Given the description of an element on the screen output the (x, y) to click on. 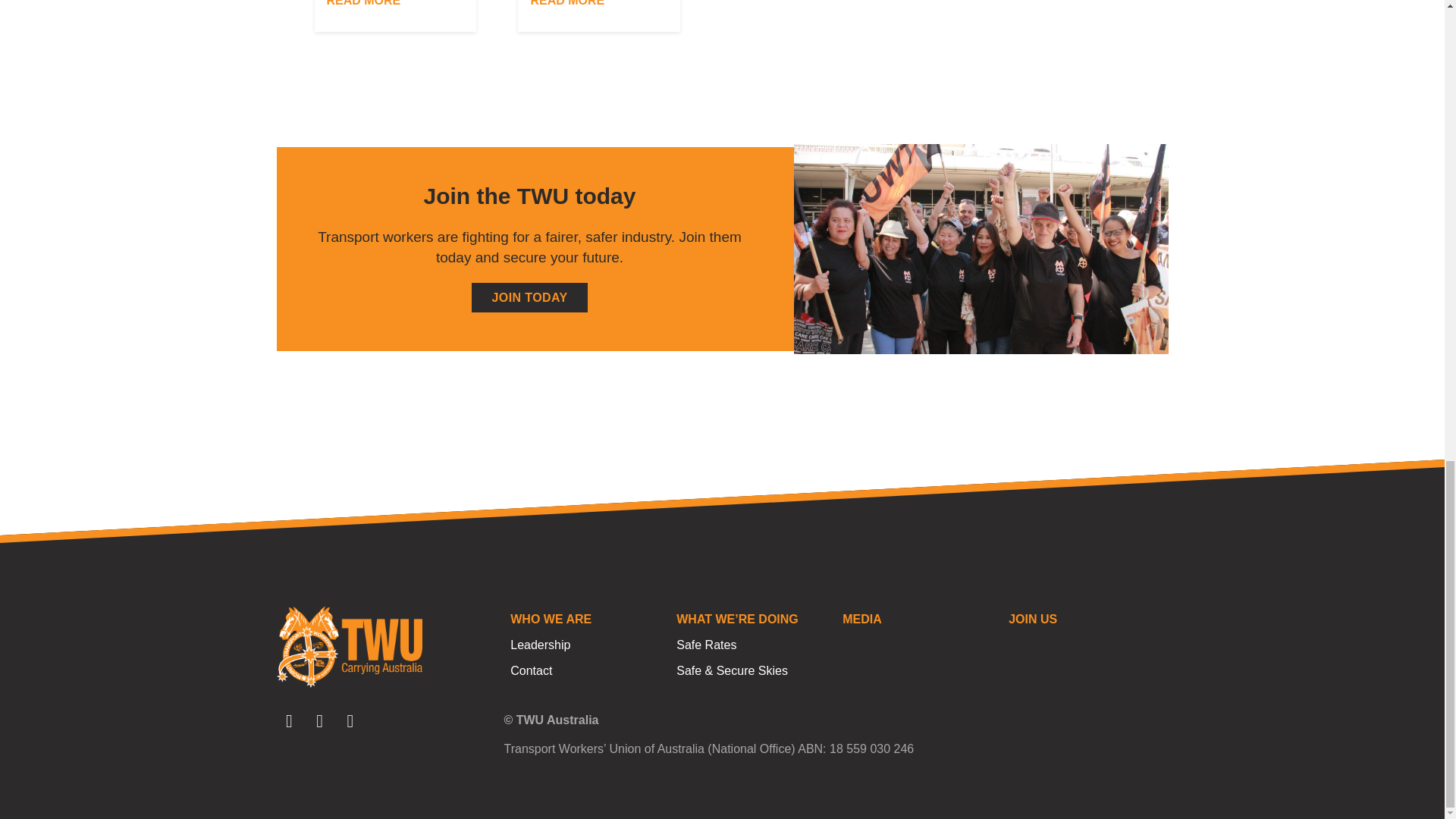
Leadership (586, 645)
Safe Rates (752, 645)
JOIN TODAY (528, 297)
JOIN US (1084, 619)
WHO WE ARE (586, 619)
MEDIA (918, 619)
Contact (586, 670)
